Given the description of an element on the screen output the (x, y) to click on. 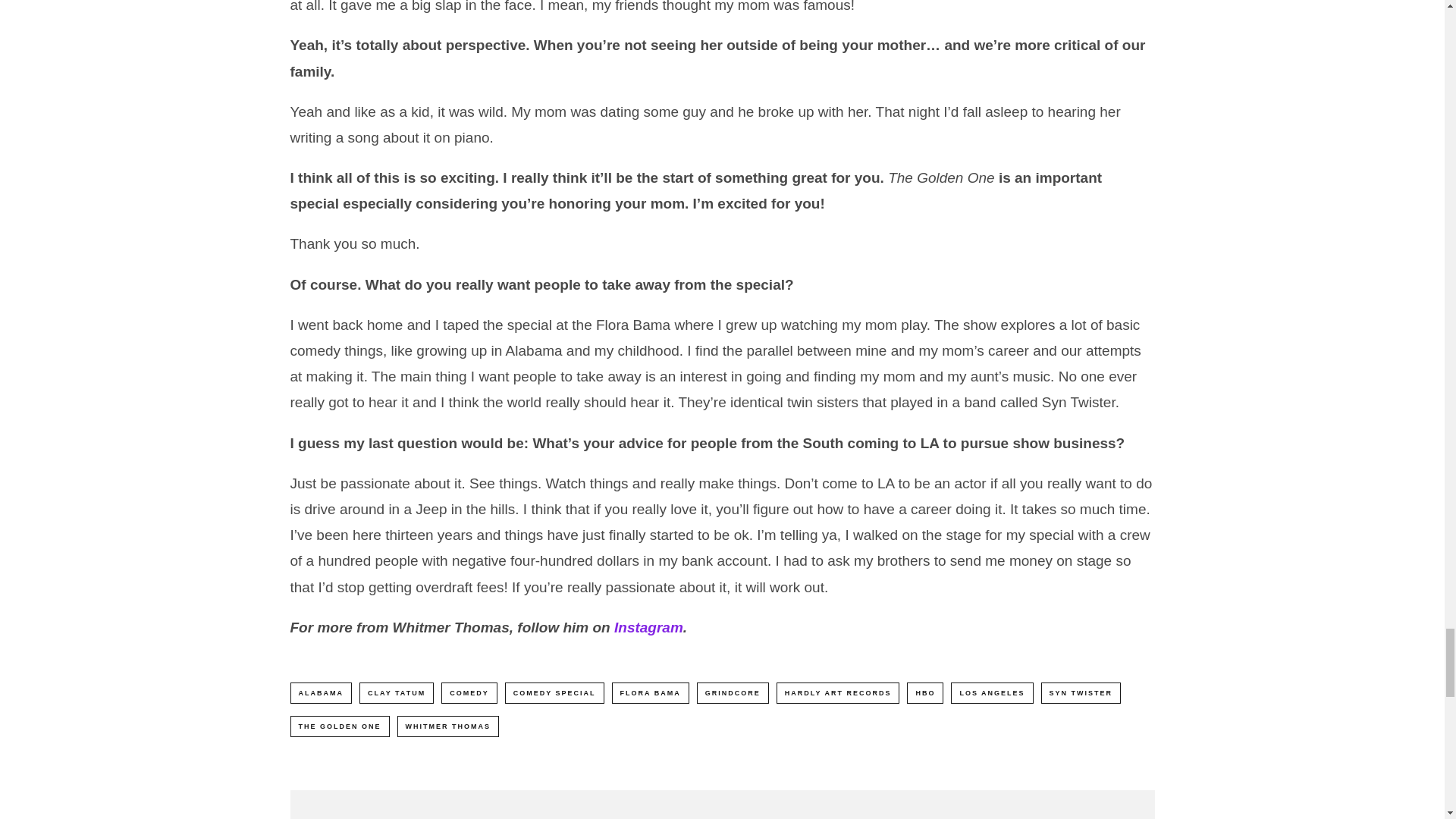
COMEDY (469, 692)
COMEDY SPECIAL (554, 692)
ALABAMA (320, 692)
GRINDCORE (732, 692)
CLAY TATUM (396, 692)
Instagram (648, 627)
FLORA BAMA (649, 692)
